Given the description of an element on the screen output the (x, y) to click on. 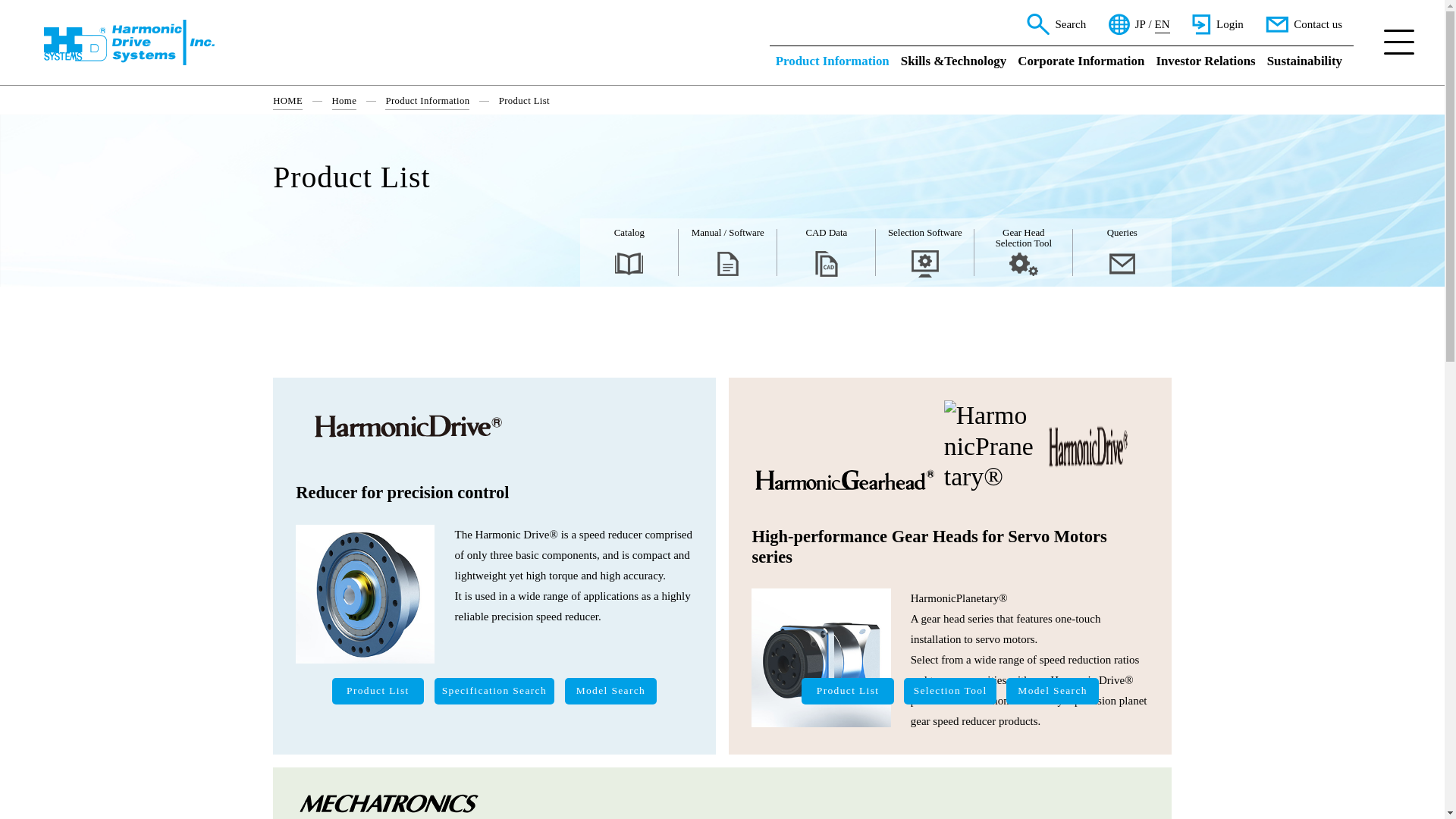
Contact us (1303, 24)
JP (1140, 24)
Login (1217, 24)
Product Information (832, 63)
Search (1056, 24)
EN (1162, 24)
